Given the description of an element on the screen output the (x, y) to click on. 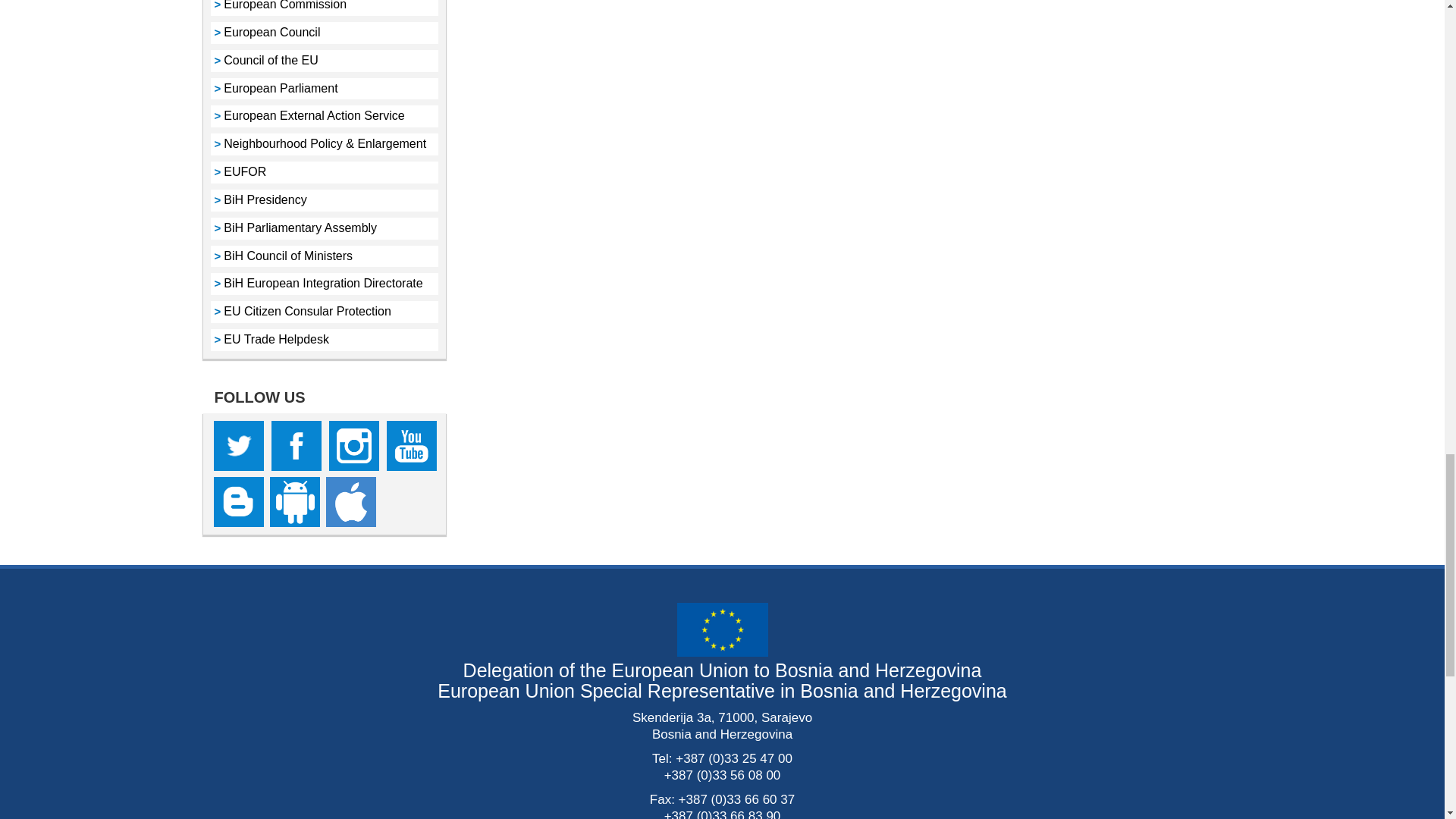
Follow Us on IG (353, 445)
Follow Us on Facebook (295, 445)
Follow Us on Youtube (411, 445)
Follow Us on Android (294, 501)
Follow Us on iOS (350, 501)
Follow Us on Twitter (238, 445)
Follow Us on iOS (238, 501)
